Given the description of an element on the screen output the (x, y) to click on. 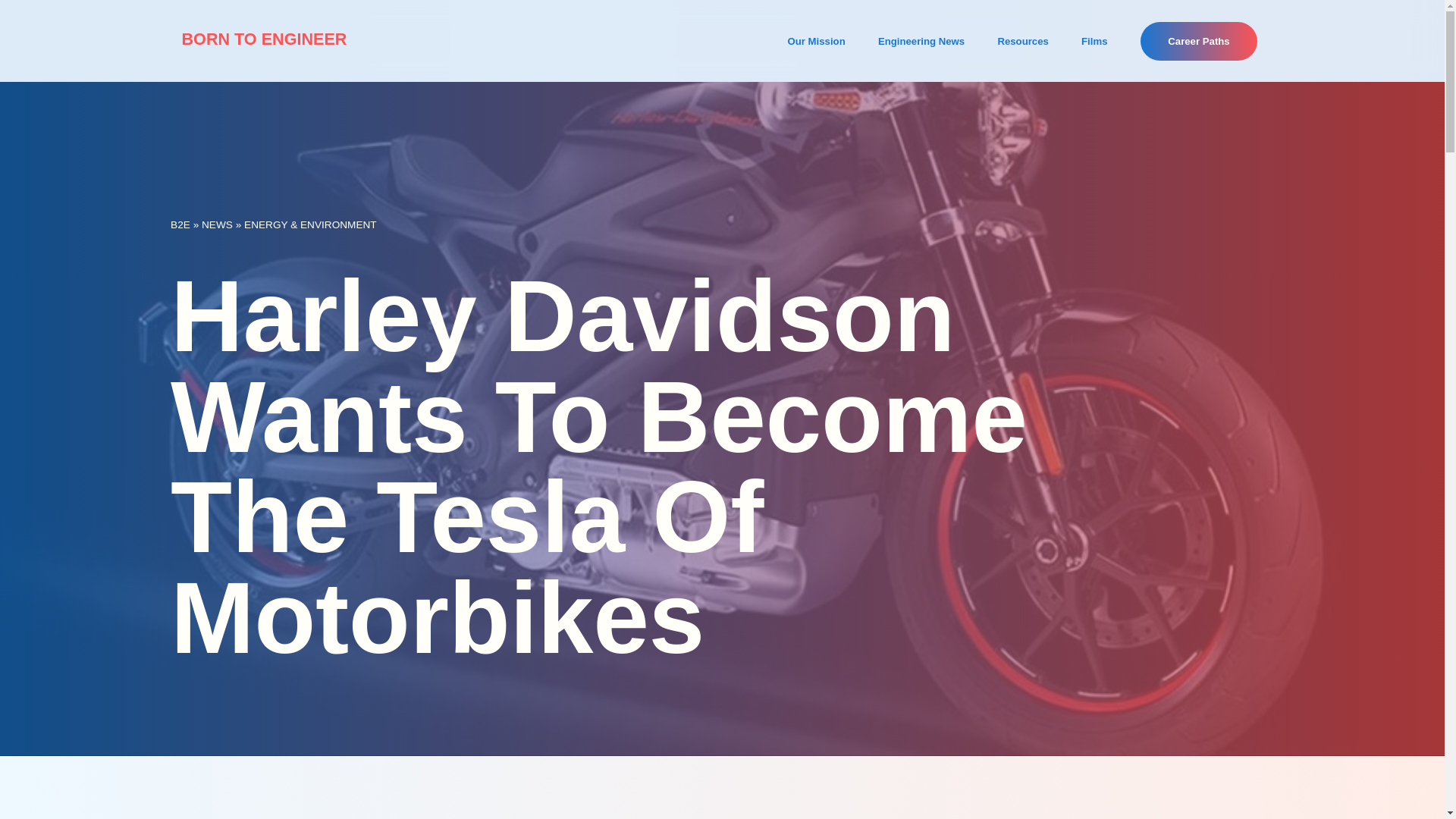
NEWS (217, 224)
Our Mission (815, 40)
Career Paths (1198, 41)
Films (1093, 40)
B2E (180, 224)
Resources (1022, 40)
Engineering News (920, 40)
BORN TO ENGINEER (263, 38)
